Given the description of an element on the screen output the (x, y) to click on. 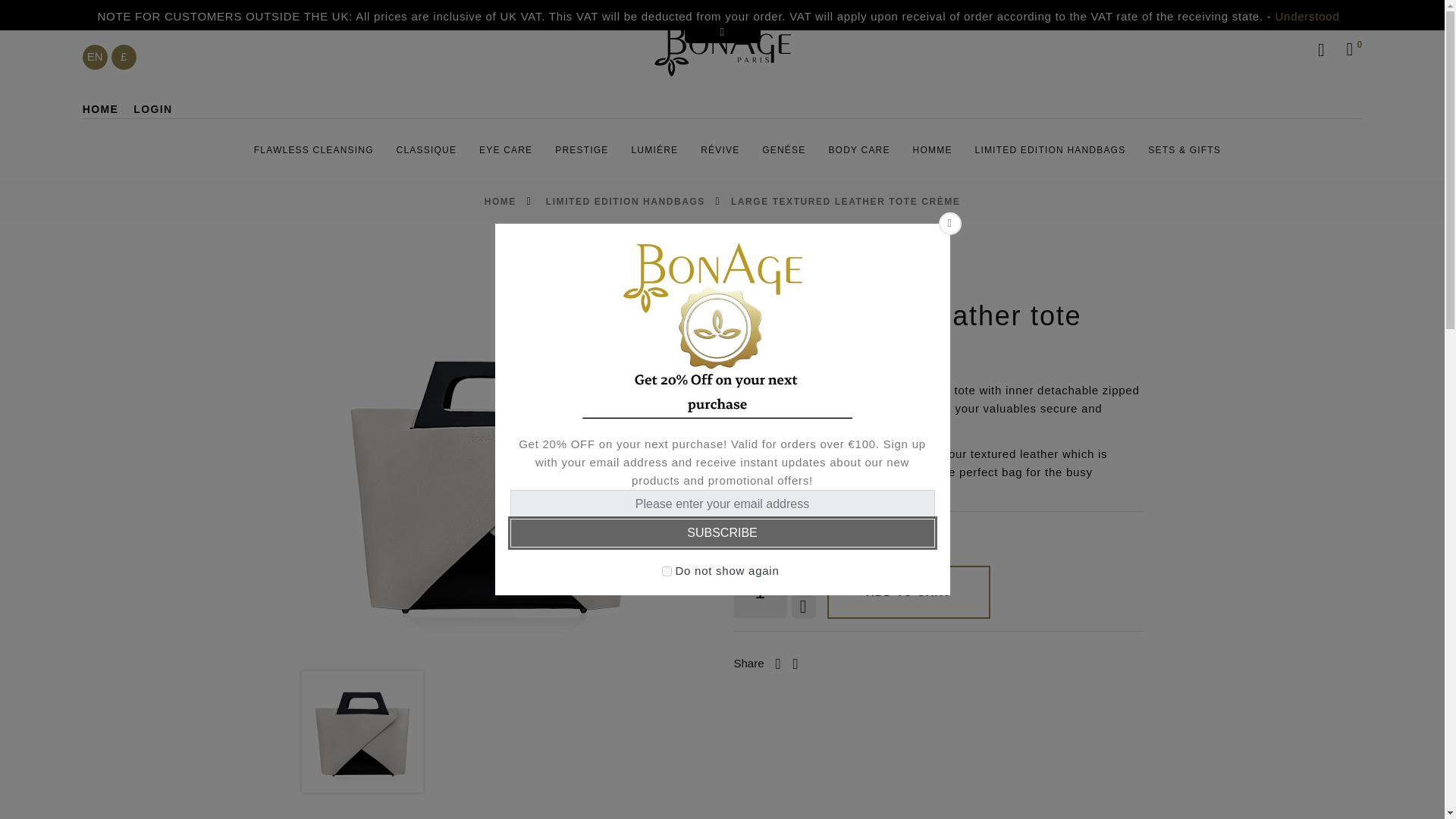
Understood (1307, 15)
on (666, 571)
EN (94, 57)
HOME (100, 109)
EYE CARE (505, 149)
LOGIN (152, 109)
CLASSIQUE (426, 149)
FLAWLESS CLEANSING (313, 149)
1 (760, 592)
